Given the description of an element on the screen output the (x, y) to click on. 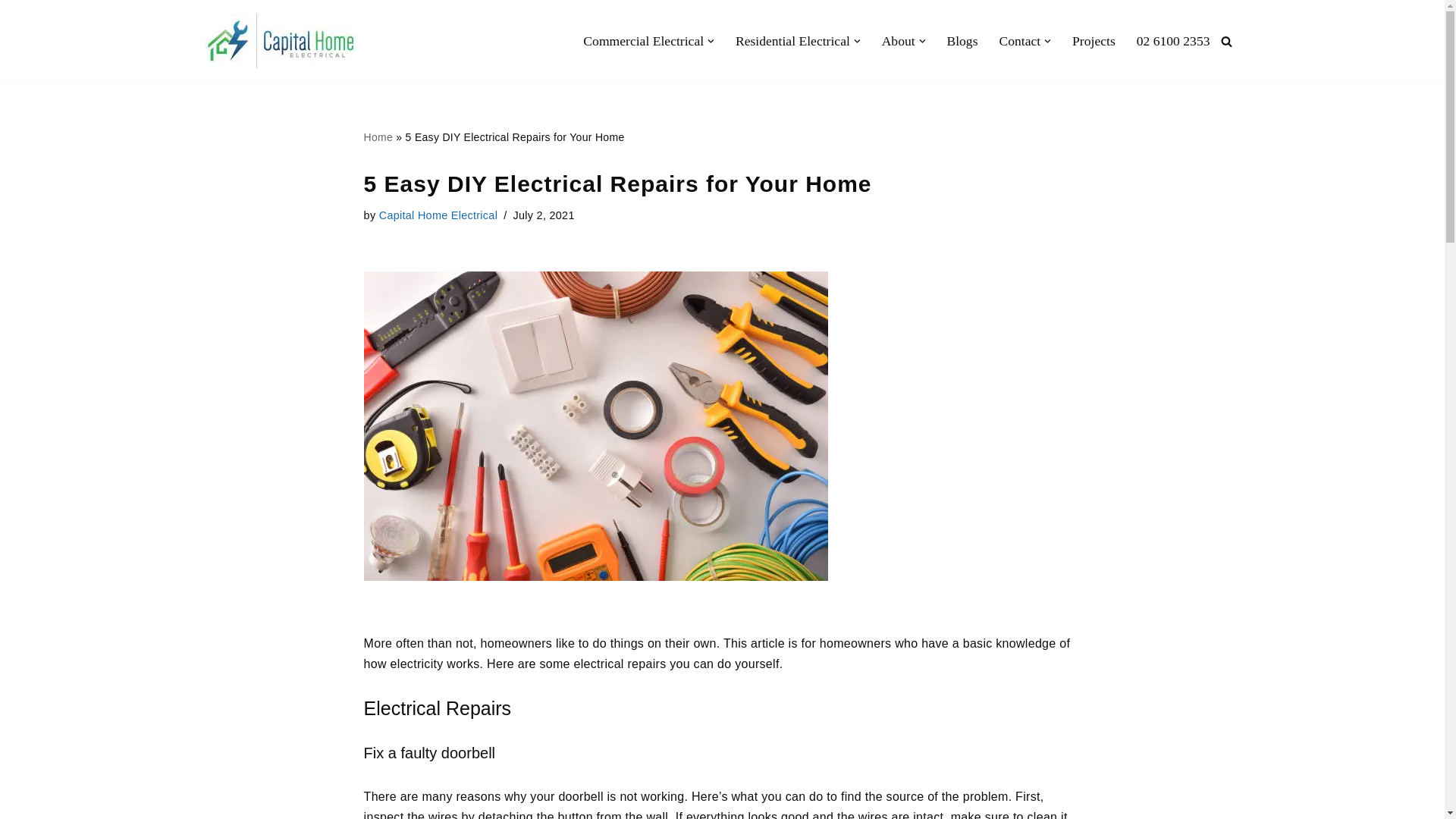
Contact (1019, 40)
Posts by Capital Home Electrical (437, 215)
Commercial Electrical (643, 40)
Blogs (961, 40)
About Capital Home Electrical (898, 40)
About (898, 40)
Skip to content (11, 31)
Residential Electrical (792, 40)
